Given the description of an element on the screen output the (x, y) to click on. 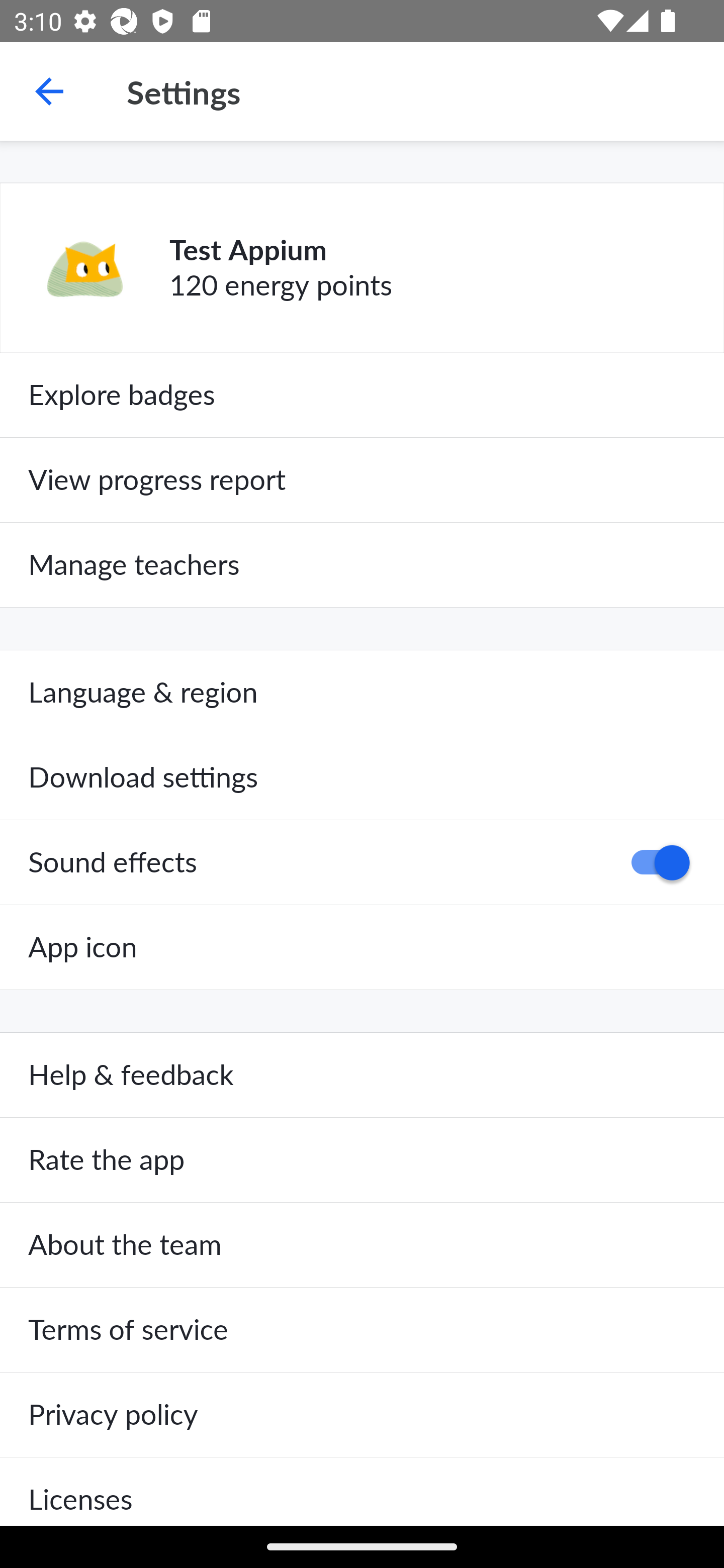
Navigate up (49, 91)
Explore badges (362, 394)
View progress report (362, 479)
Manage teachers (362, 565)
Language & region (362, 692)
Download settings (362, 777)
ON (653, 861)
App icon (362, 946)
Help & feedback (362, 1075)
Rate the app (362, 1159)
About the team (362, 1244)
Terms of service (362, 1329)
Privacy policy (362, 1414)
Licenses (362, 1490)
